Given the description of an element on the screen output the (x, y) to click on. 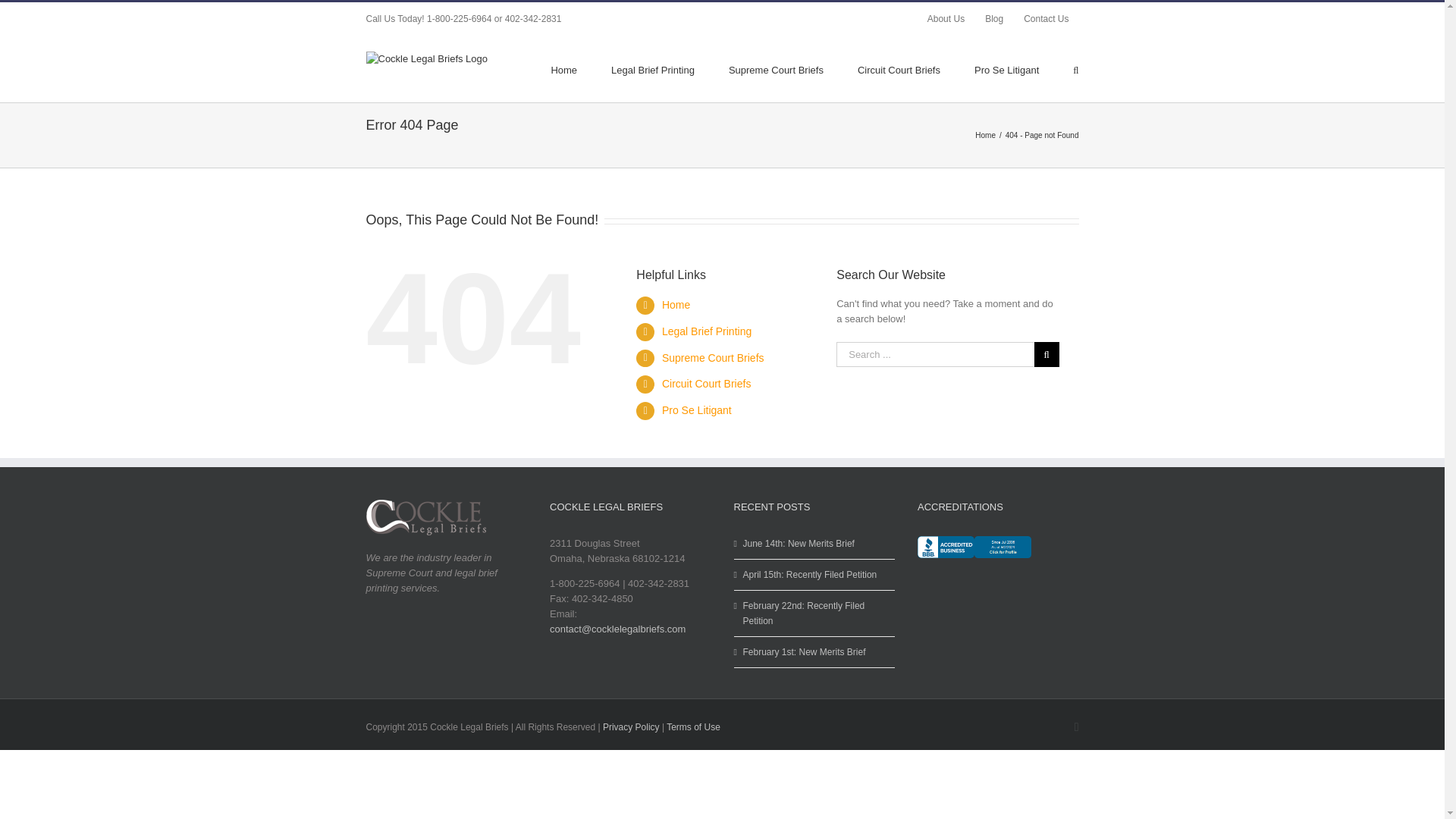
February 22nd: Recently Filed Petition (815, 613)
Supreme Court Briefs (713, 357)
Supreme Court Briefs (776, 68)
Circuit Court Briefs (898, 68)
Home (985, 134)
Legal Brief Printing (706, 331)
Terms of Use (693, 726)
Pro Se Litigant (697, 410)
Contact Us (1045, 19)
April 15th: Recently Filed Petition (815, 574)
